Given the description of an element on the screen output the (x, y) to click on. 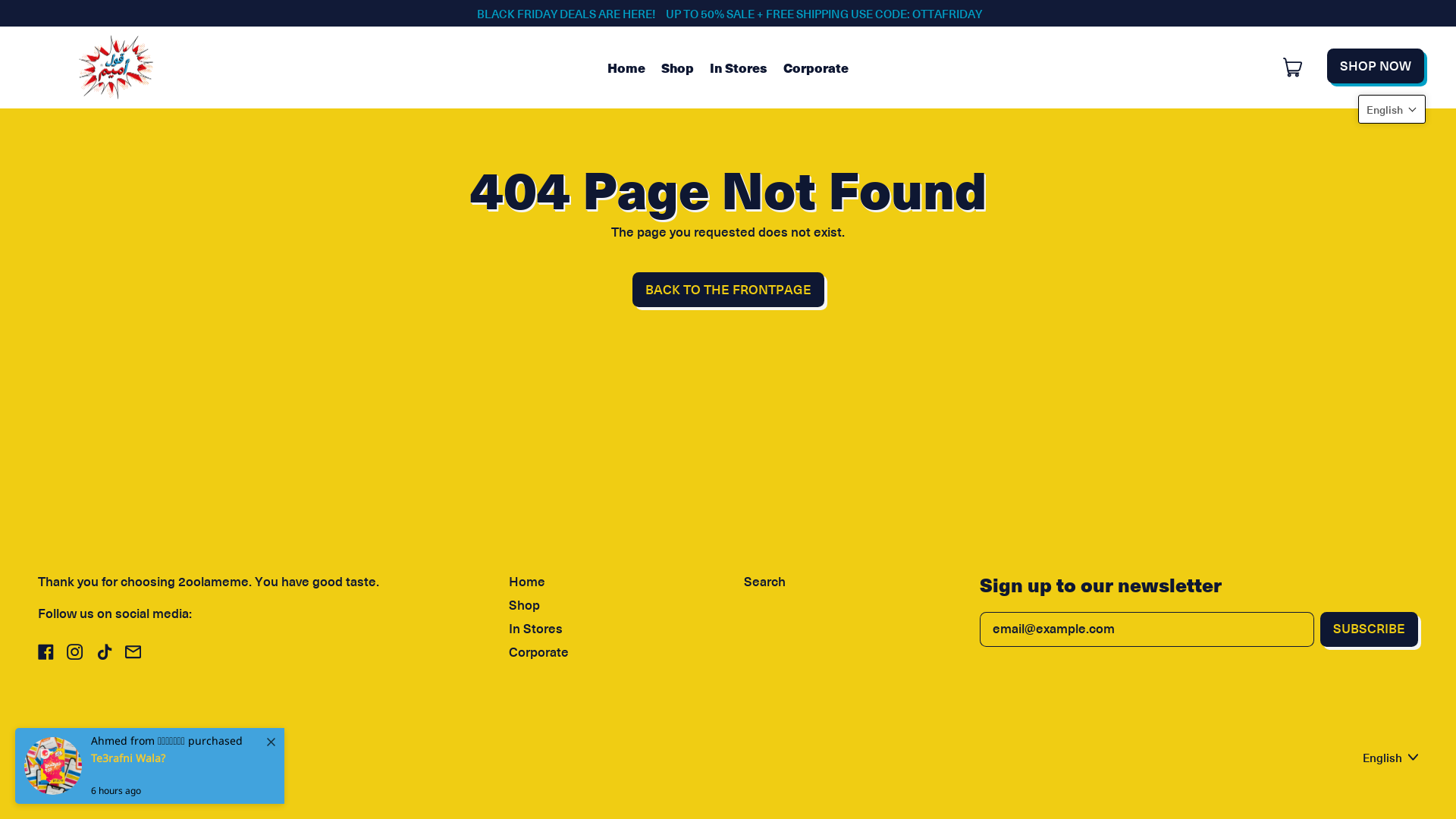
Corporate Element type: text (815, 66)
English Element type: text (1390, 756)
Shop Element type: text (676, 66)
SUBSCRIBE Element type: text (1369, 628)
In Stores Element type: text (738, 66)
Shop Element type: text (523, 605)
In Stores Element type: text (535, 628)
Email Element type: text (133, 655)
2oolameme Element type: text (112, 753)
Cart
items Element type: text (1293, 67)
Instagram Element type: text (74, 655)
Facebook Element type: text (45, 655)
Search Element type: text (764, 581)
BACK TO THE FRONTPAGE Element type: text (728, 289)
Home Element type: text (625, 66)
TikTok Element type: text (103, 655)
Home Element type: text (526, 581)
SHOP NOW Element type: text (1375, 65)
Corporate Element type: text (538, 652)
